Given the description of an element on the screen output the (x, y) to click on. 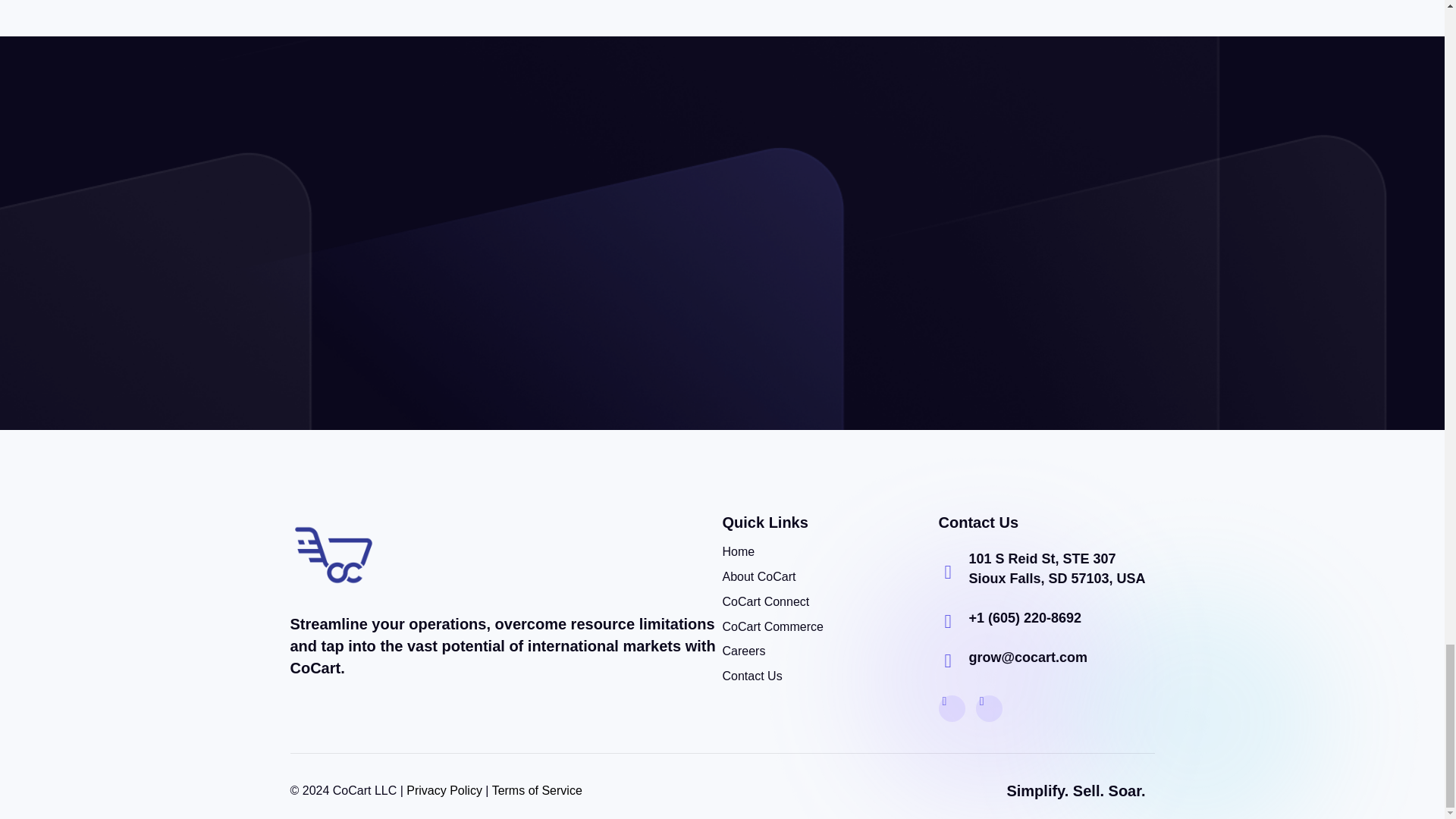
Privacy Policy (443, 789)
Terms of Service (537, 789)
CoCart Connect (765, 601)
CoCart Commerce (772, 627)
About CoCart (758, 577)
Careers (743, 651)
Home (738, 551)
Contact Us (751, 676)
